Given the description of an element on the screen output the (x, y) to click on. 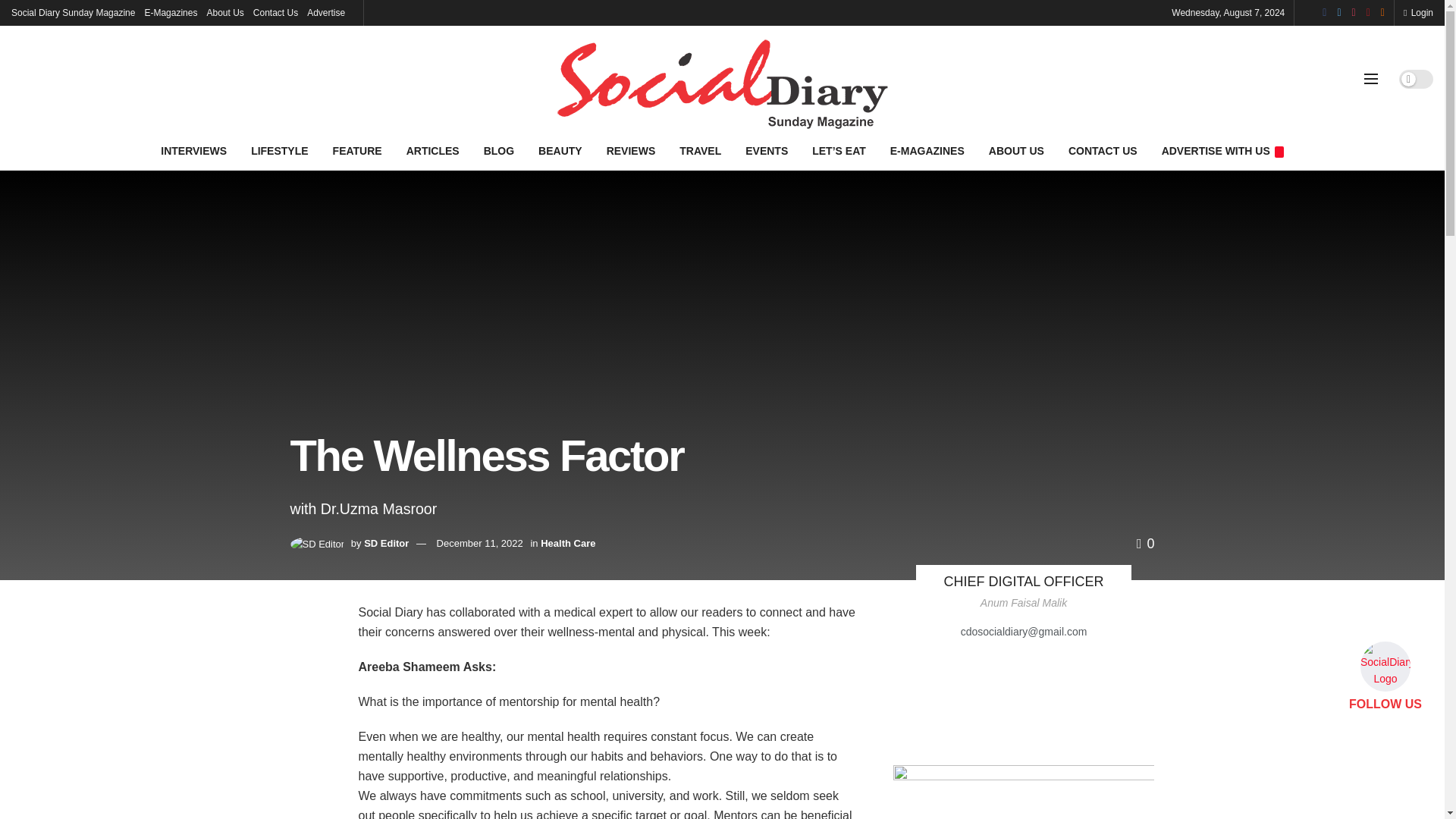
LIFESTYLE (279, 150)
Contact Us (275, 12)
E-MAGAZINES (926, 150)
ARTICLES (432, 150)
Advertise (326, 12)
ABOUT US (1016, 150)
EVENTS (766, 150)
BEAUTY (559, 150)
ADVERTISE WITH US (1222, 150)
TRAVEL (699, 150)
